Given the description of an element on the screen output the (x, y) to click on. 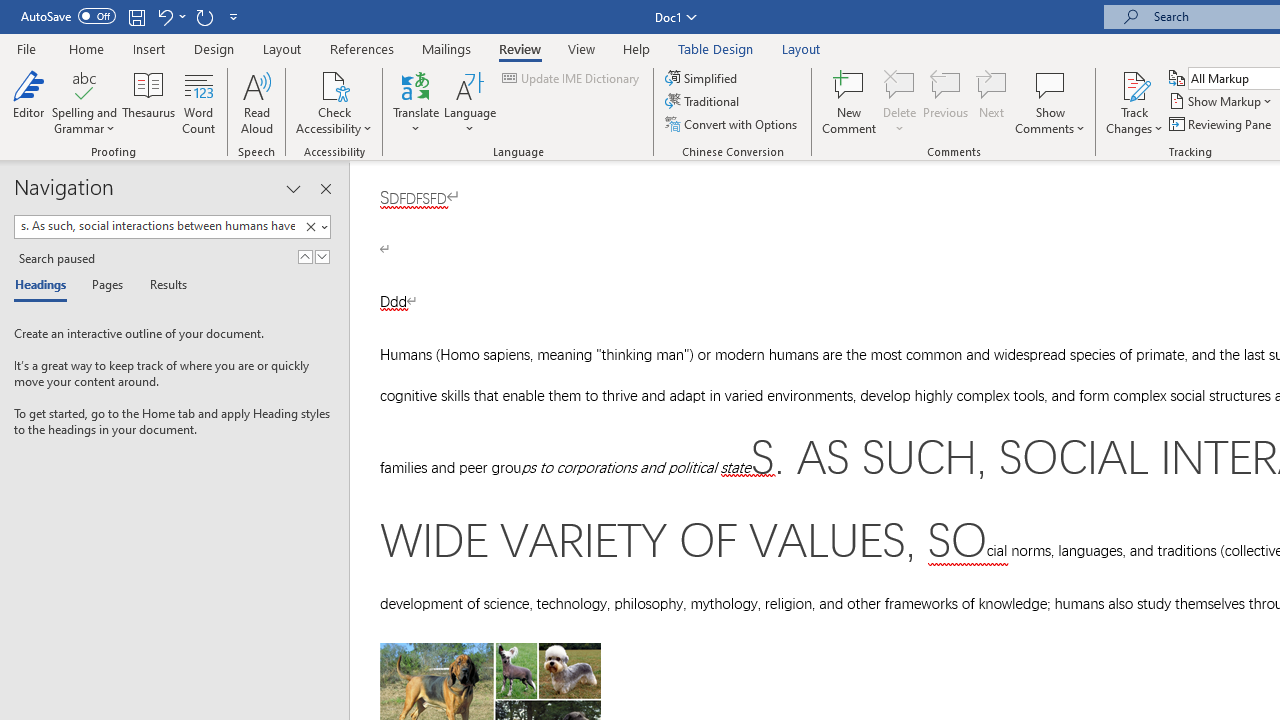
Update IME Dictionary... (572, 78)
Language (470, 102)
Word Count (198, 102)
Show Markup (1222, 101)
Track Changes (1134, 102)
New Comment (849, 102)
Track Changes (1134, 84)
Delete (900, 84)
